Given the description of an element on the screen output the (x, y) to click on. 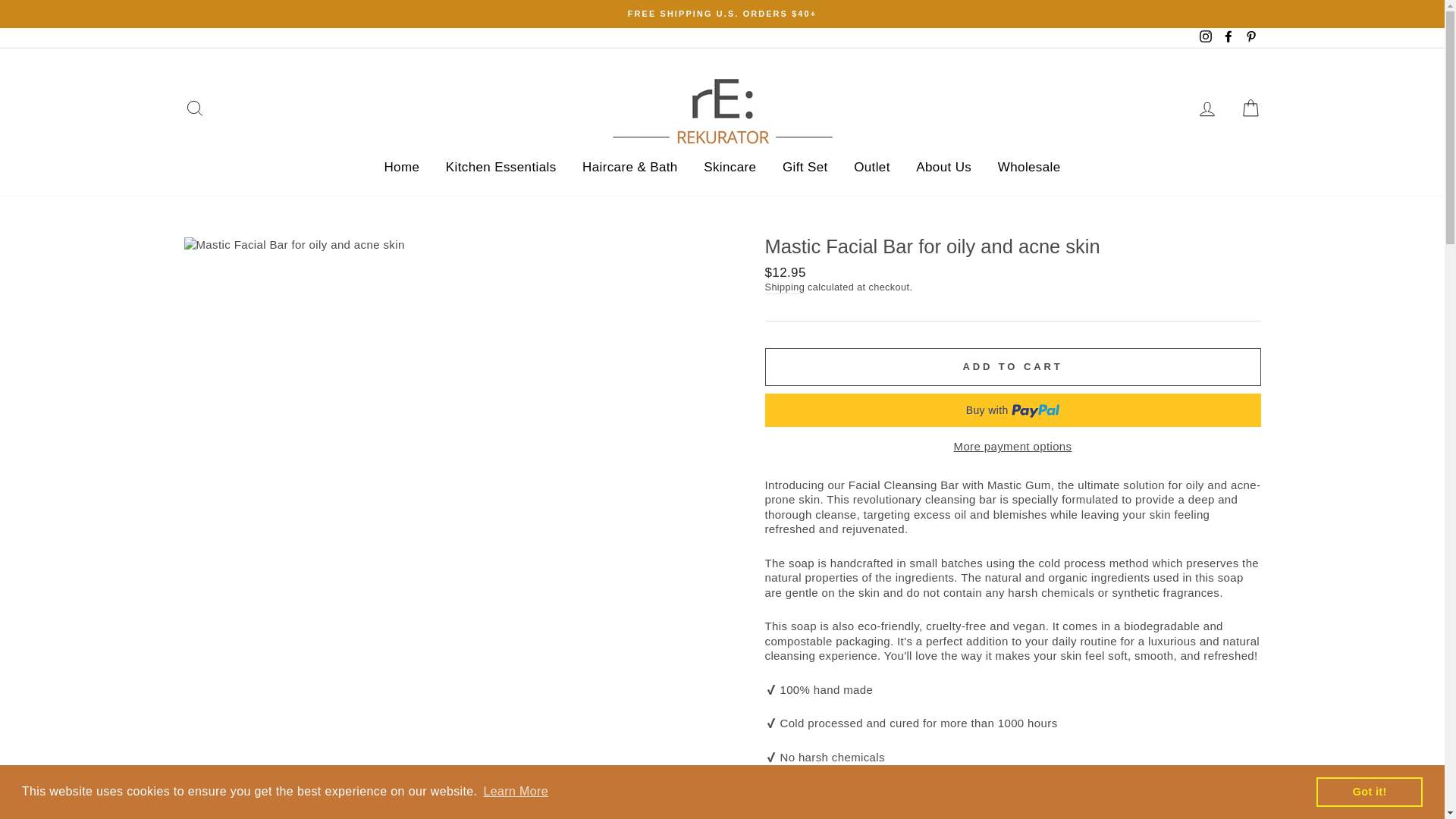
Learn More (515, 791)
Instagram (1205, 37)
Rekurator on Facebook (1228, 37)
Search (194, 108)
Pinterest (1250, 37)
Got it! (1369, 791)
Rekurator on Instagram (1205, 37)
Facebook (1228, 37)
Rekurator on Pinterest (1250, 37)
